Given the description of an element on the screen output the (x, y) to click on. 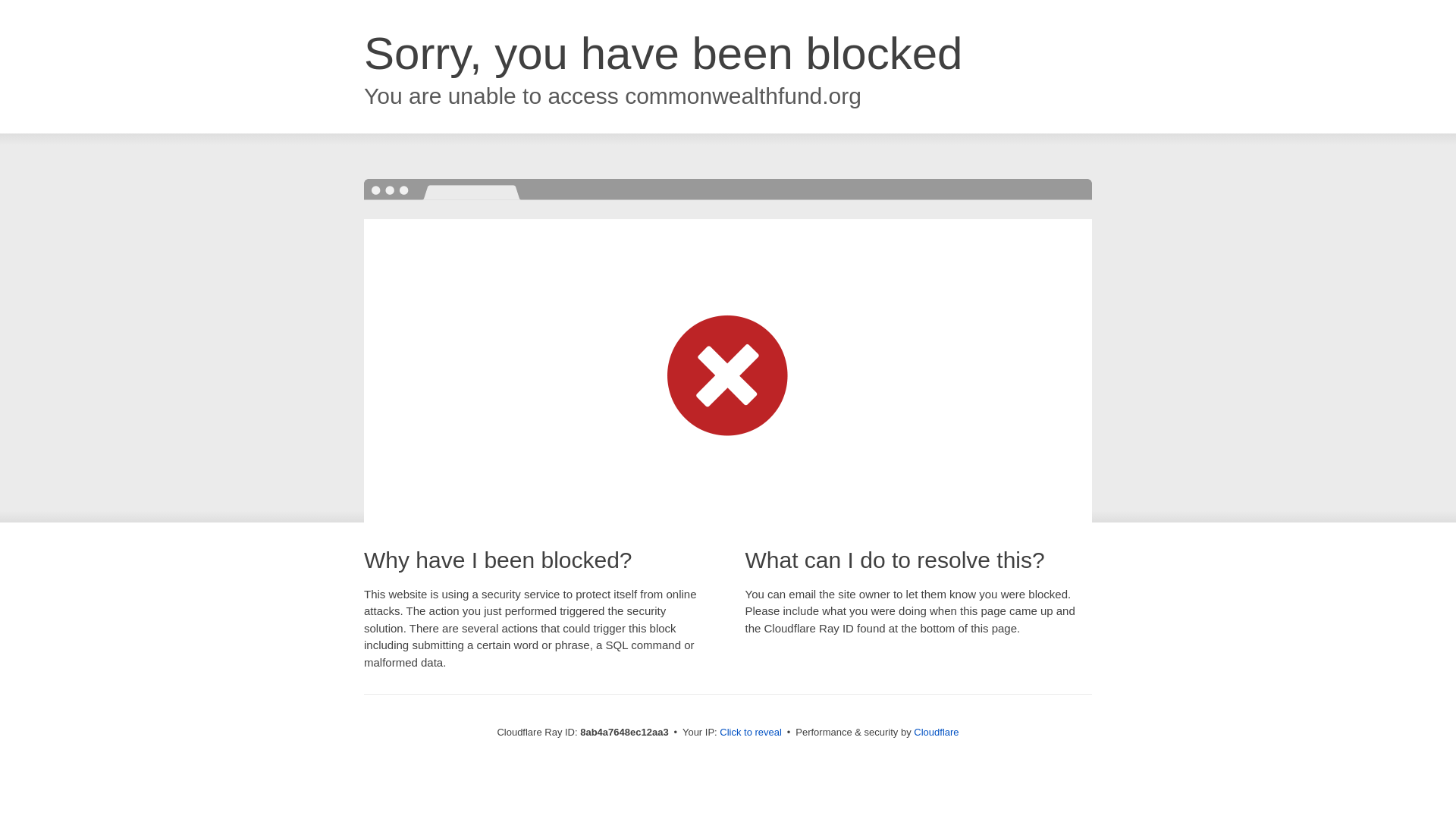
Click to reveal (750, 732)
Cloudflare (936, 731)
